Given the description of an element on the screen output the (x, y) to click on. 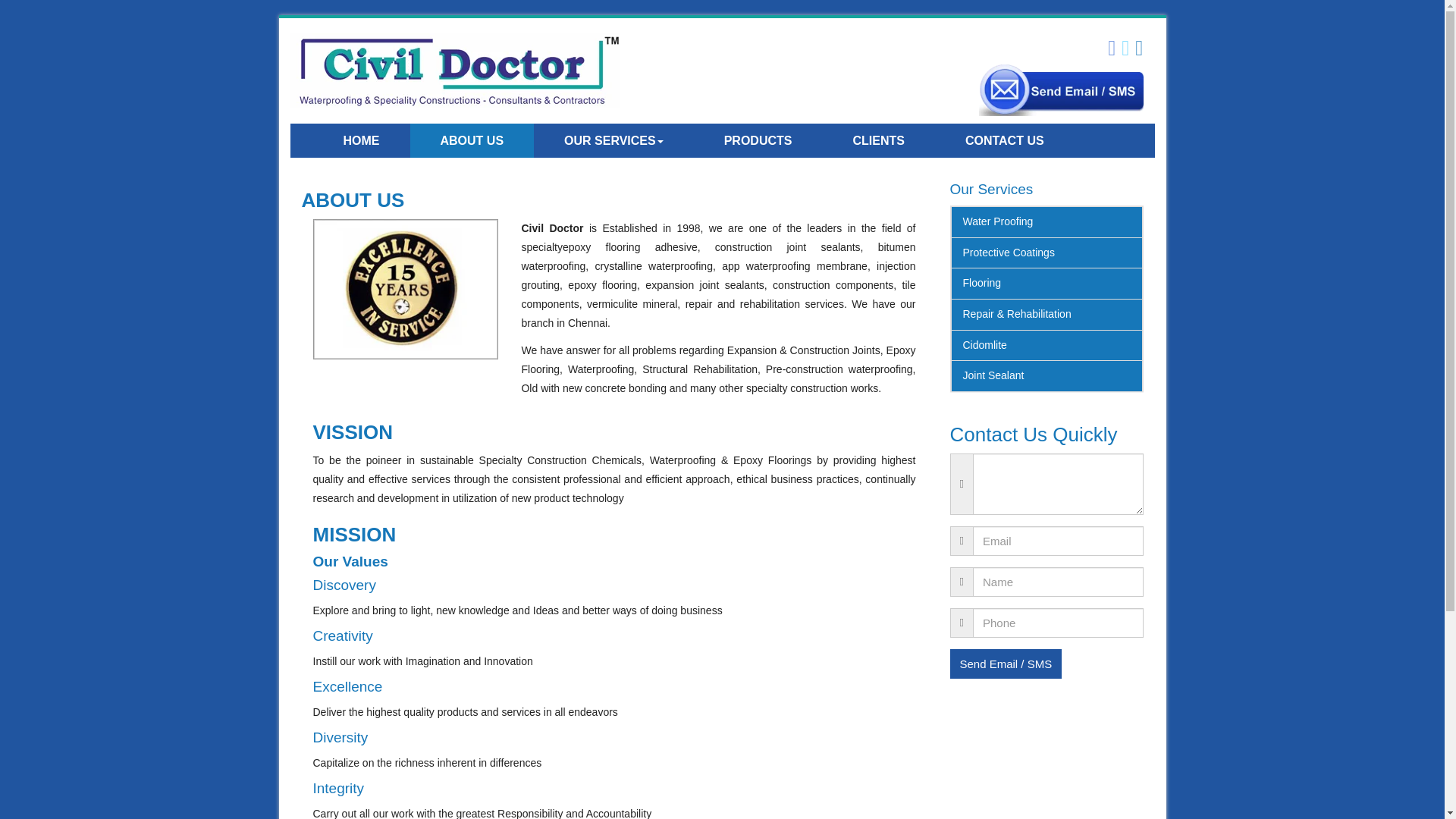
Protective Coatings (1046, 253)
Water Proofing (1046, 222)
CONTACT US (1004, 140)
CLIENTS (878, 140)
HOME (361, 140)
ABOUT US (471, 140)
OUR SERVICES (614, 140)
PRODUCTS (758, 140)
